Given the description of an element on the screen output the (x, y) to click on. 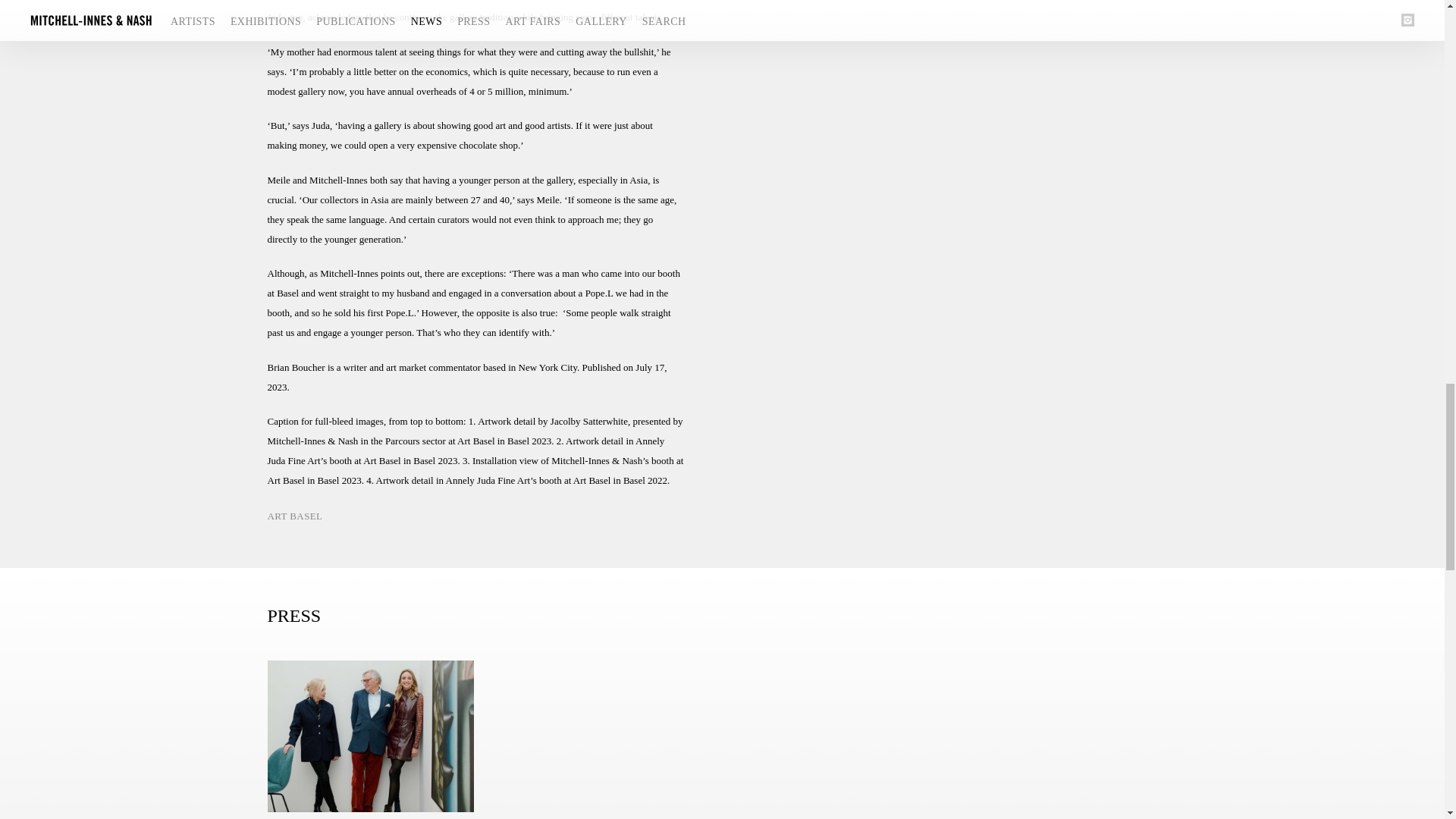
ART BASEL (293, 519)
